Given the description of an element on the screen output the (x, y) to click on. 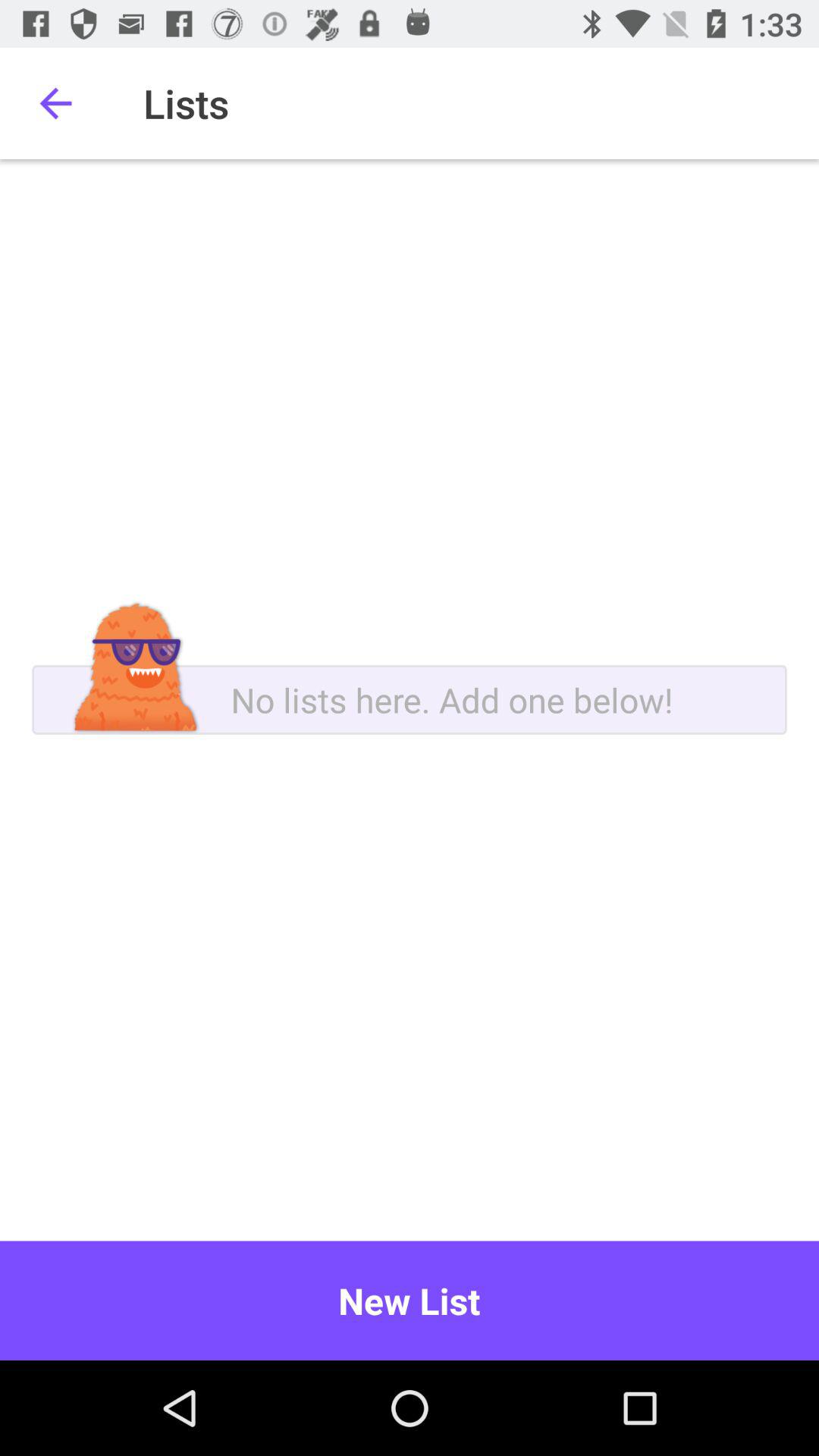
create a new list below (409, 700)
